Given the description of an element on the screen output the (x, y) to click on. 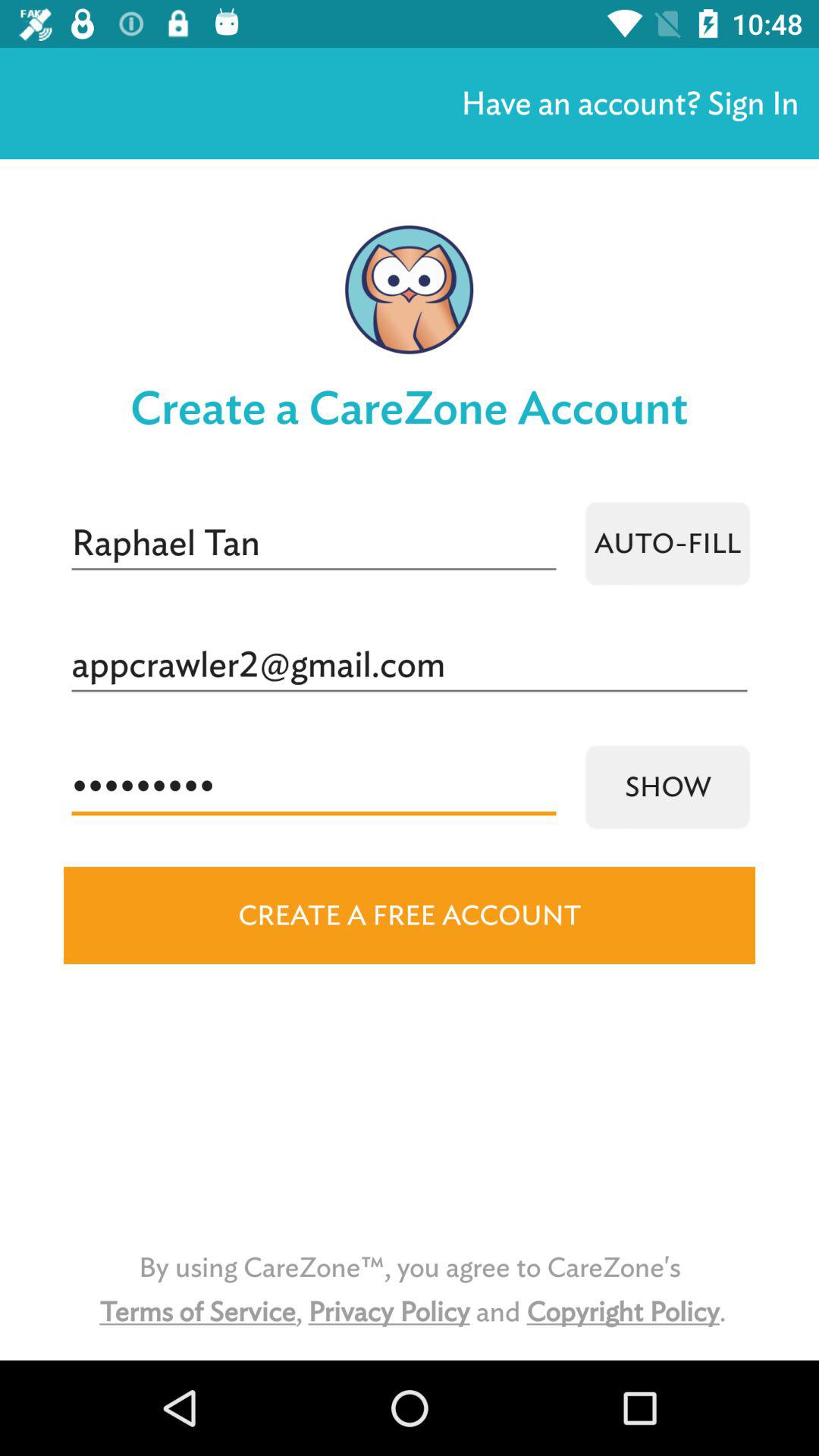
turn on the item above the create a free (667, 786)
